Given the description of an element on the screen output the (x, y) to click on. 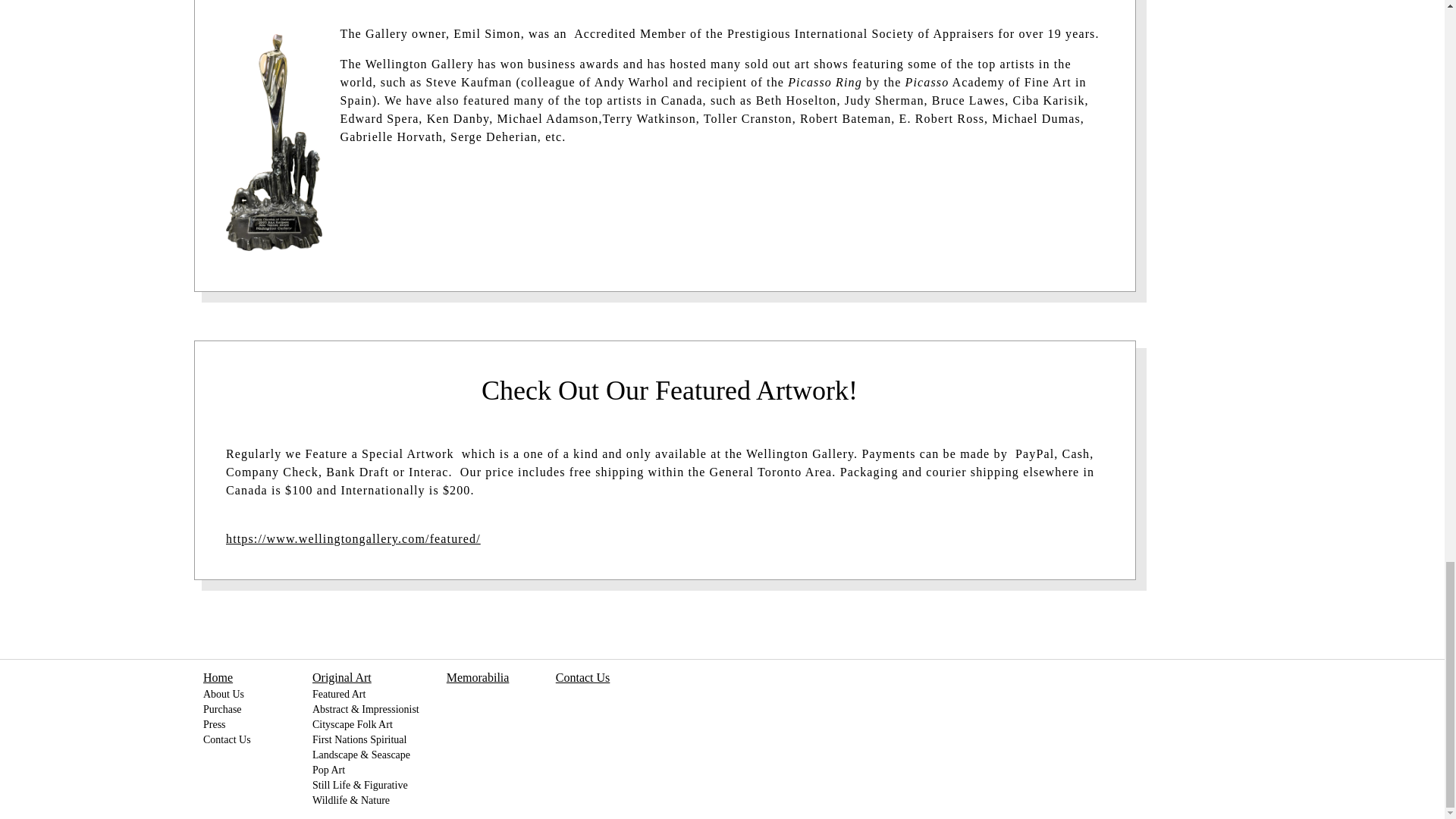
Press (214, 725)
Contact Us (226, 739)
Home (217, 678)
Cityscape Folk Art (353, 725)
First Nations Spiritual (359, 739)
Original Art (342, 678)
Purchase (222, 709)
Featured Art (339, 694)
About Us (223, 694)
